Given the description of an element on the screen output the (x, y) to click on. 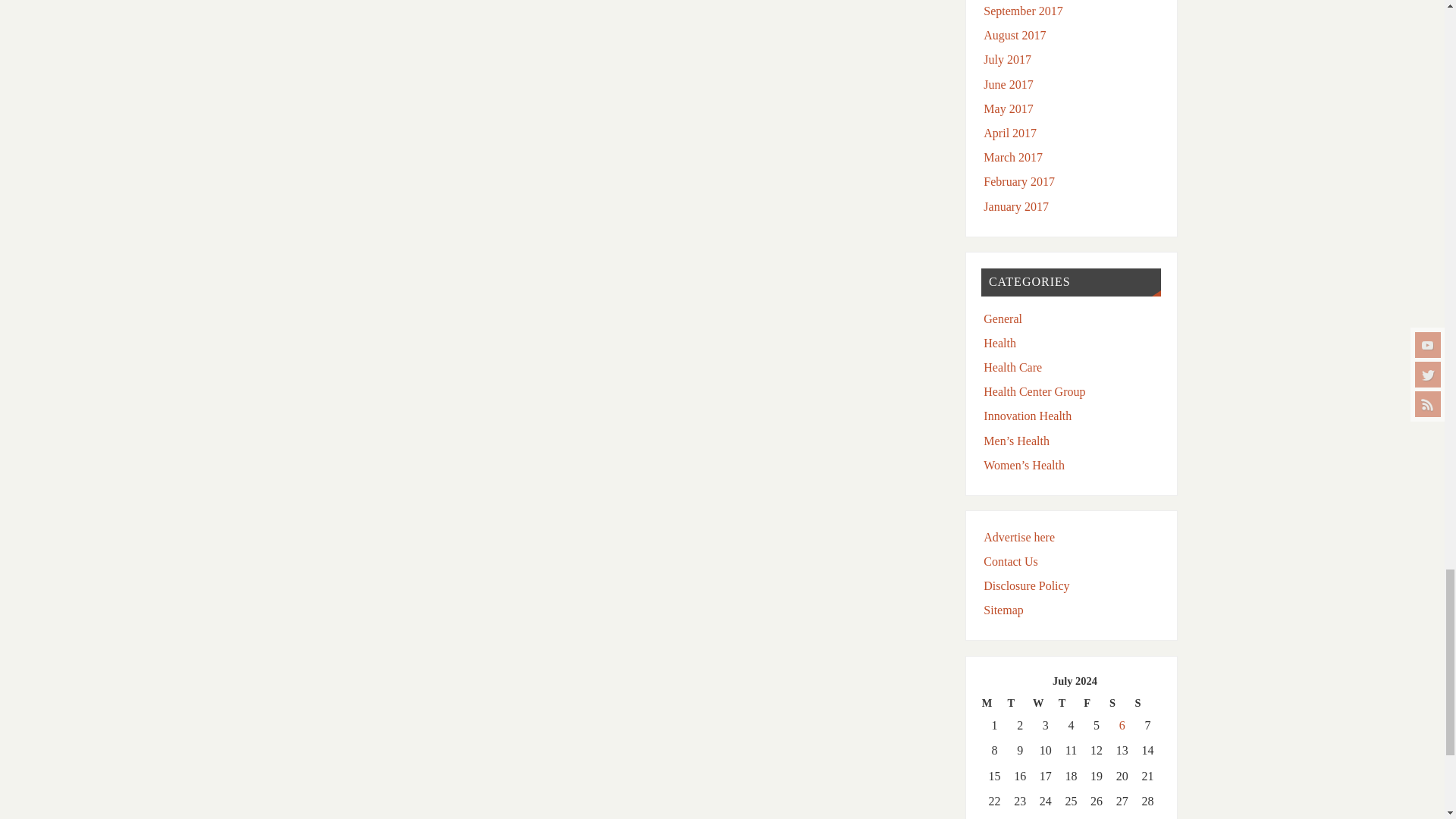
Tuesday (1019, 702)
Wednesday (1045, 702)
Monday (994, 702)
